Given the description of an element on the screen output the (x, y) to click on. 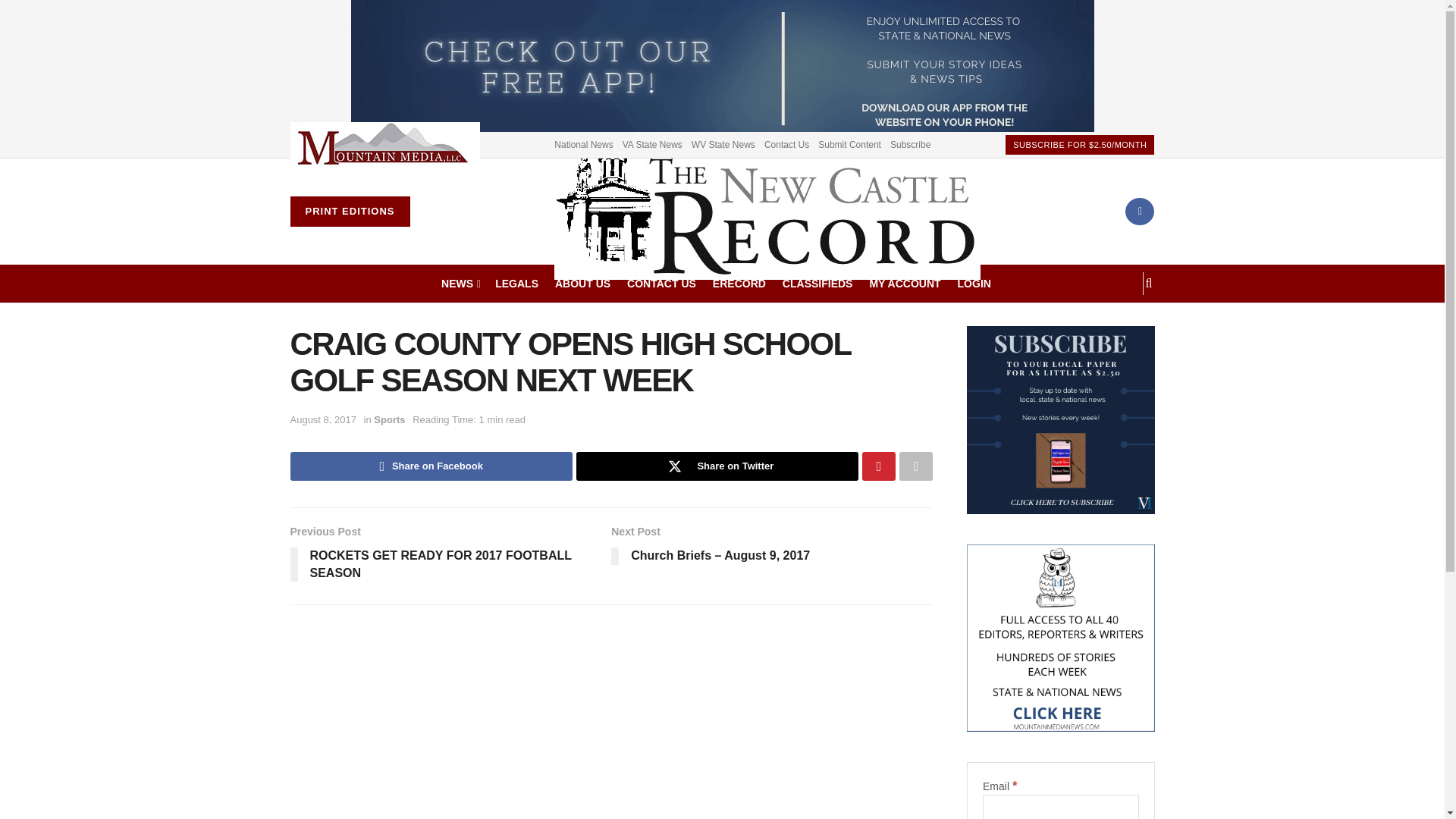
LOGIN (974, 283)
CLASSIFIEDS (818, 283)
Submit Content (849, 144)
Subscribe (909, 144)
ABOUT US (582, 283)
MY ACCOUNT (904, 283)
National News (583, 144)
CONTACT US (661, 283)
WV State News (723, 144)
LEGALS (516, 283)
